Given the description of an element on the screen output the (x, y) to click on. 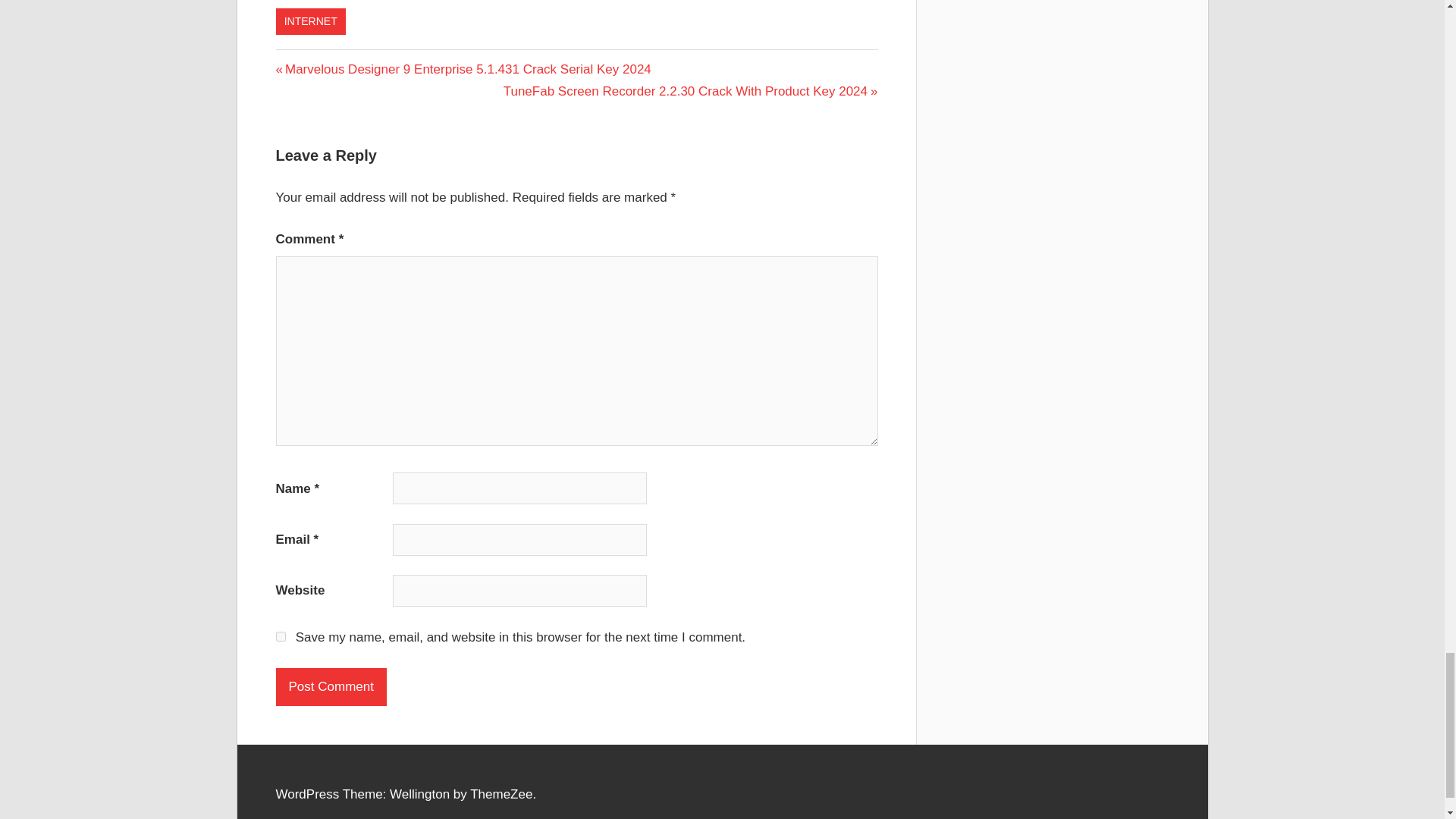
Post Comment (331, 686)
Post Comment (331, 686)
INTERNET (311, 22)
yes (280, 636)
